Given the description of an element on the screen output the (x, y) to click on. 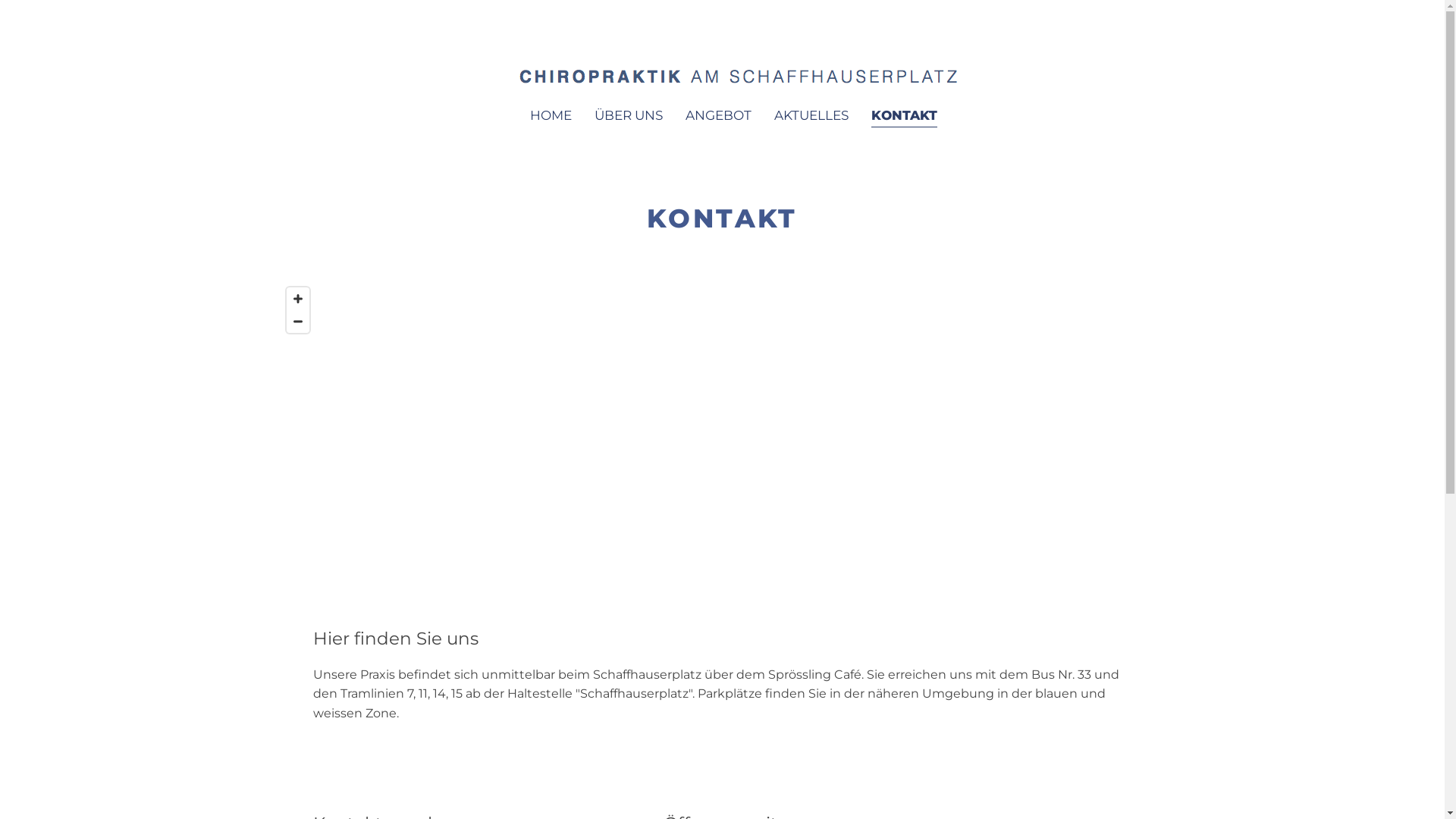
AKTUELLES Element type: text (811, 115)
KONTAKT Element type: text (904, 115)
ANGEBOT Element type: text (718, 115)
HOME Element type: text (550, 115)
